Given the description of an element on the screen output the (x, y) to click on. 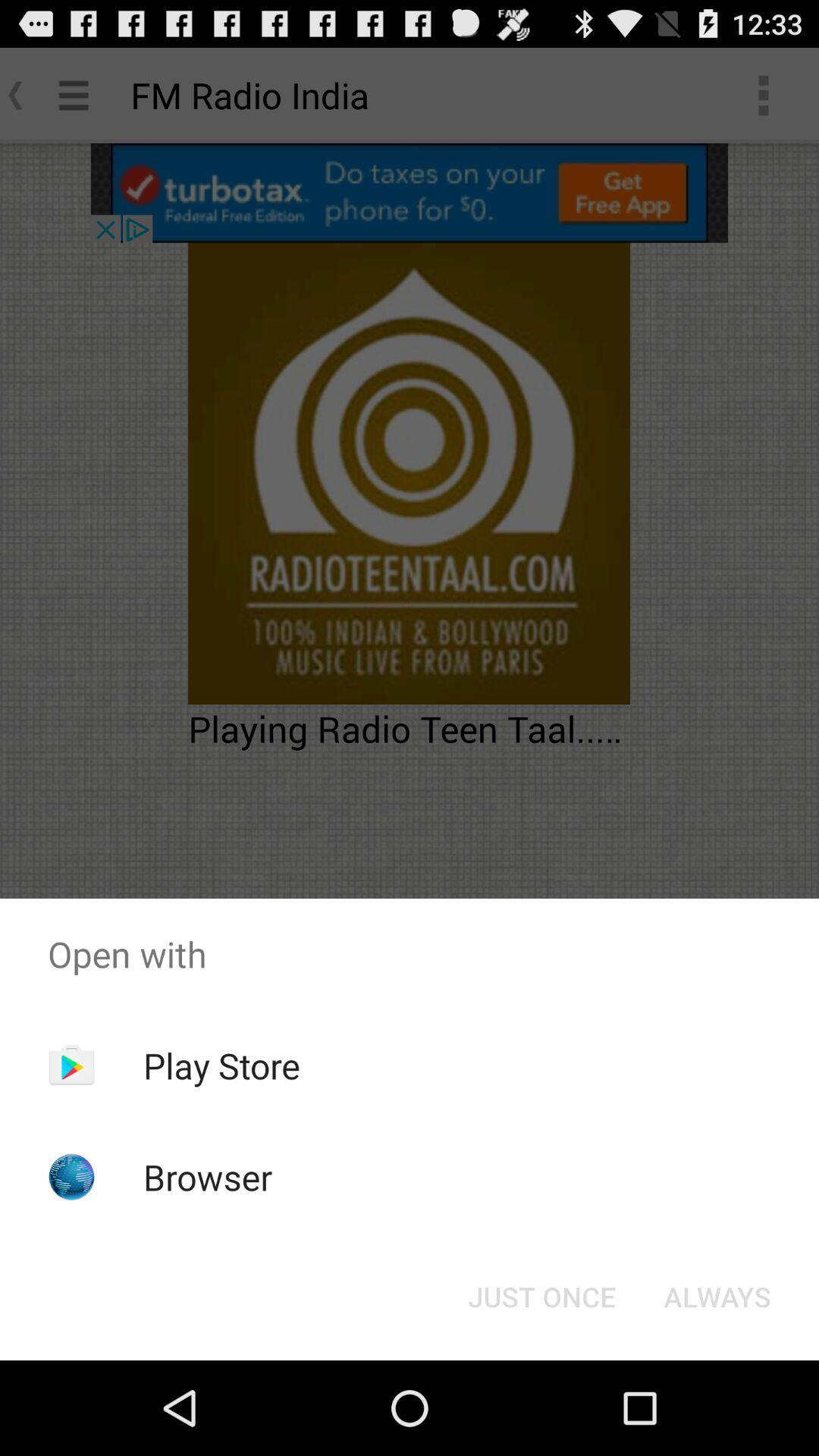
turn off the icon to the right of just once item (717, 1296)
